Given the description of an element on the screen output the (x, y) to click on. 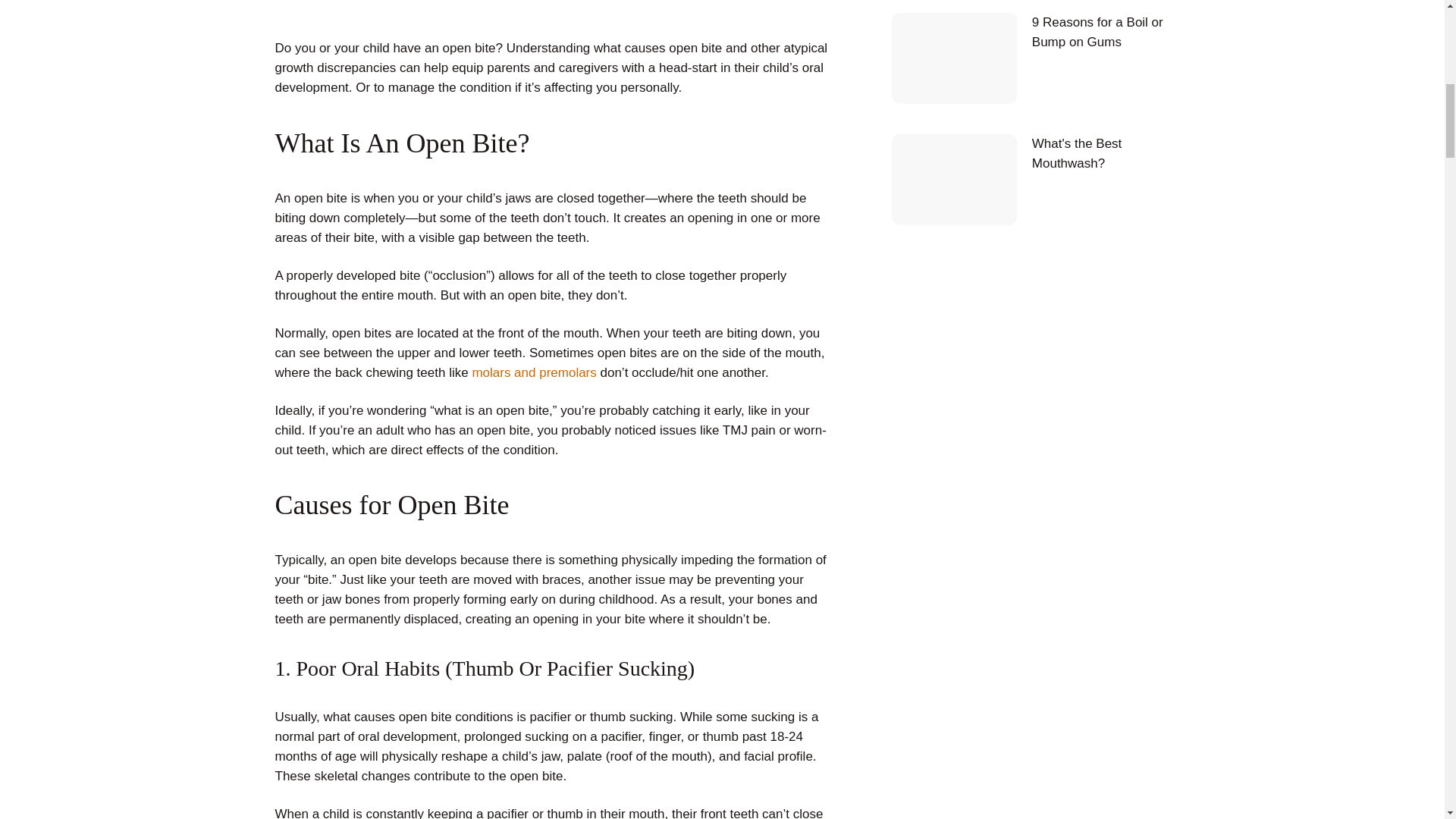
What's the Best Mouthwash? (1030, 179)
molars and premolars (533, 372)
9 Reasons for a Boil or Bump on Gums (1030, 58)
